Given the description of an element on the screen output the (x, y) to click on. 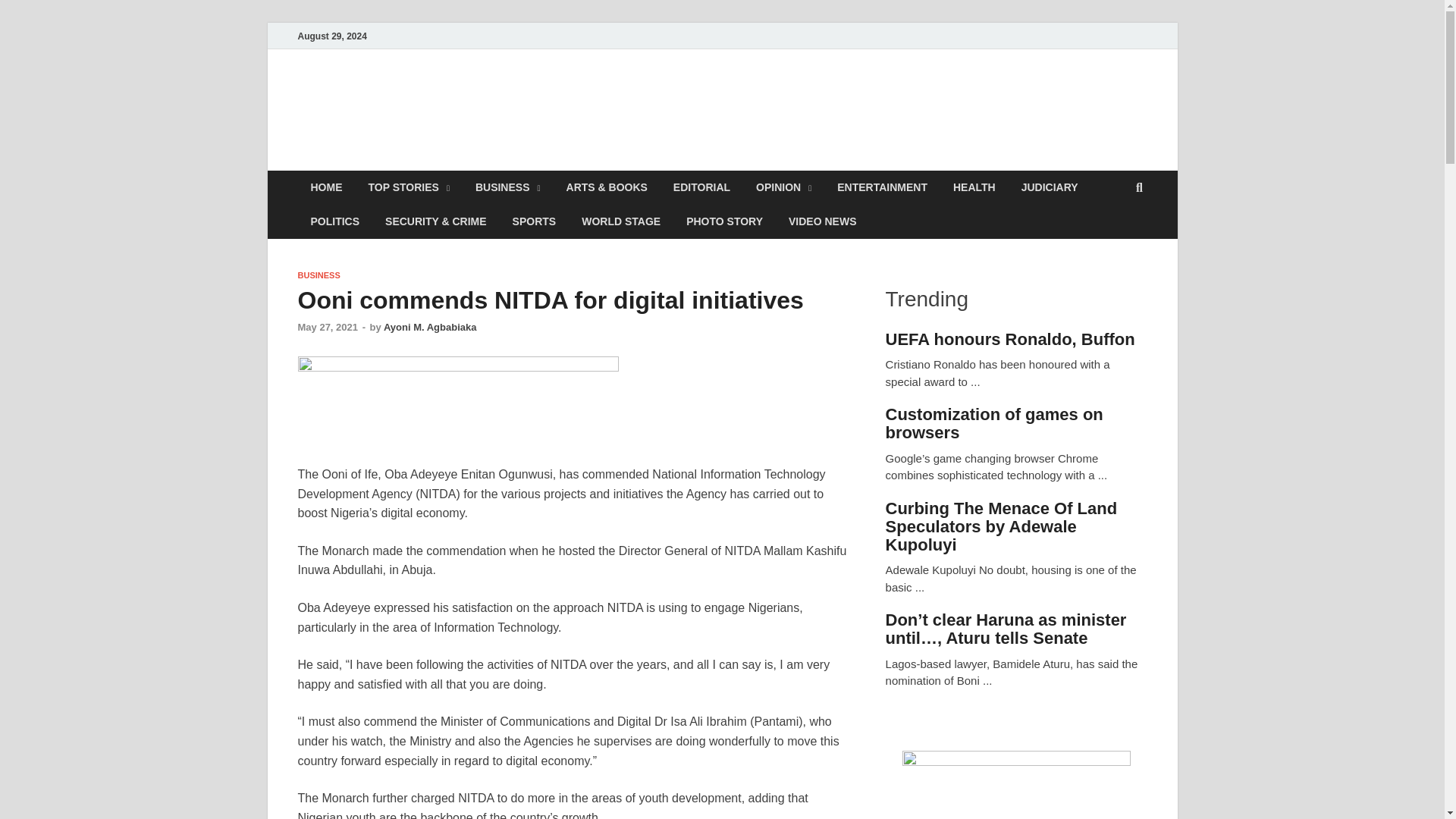
TOP STORIES (408, 187)
HOME (326, 187)
OPINION (783, 187)
BUSINESS (508, 187)
ENTERTAINMENT (882, 187)
Blueprint Newspapers Limited (504, 161)
EDITORIAL (701, 187)
